Given the description of an element on the screen output the (x, y) to click on. 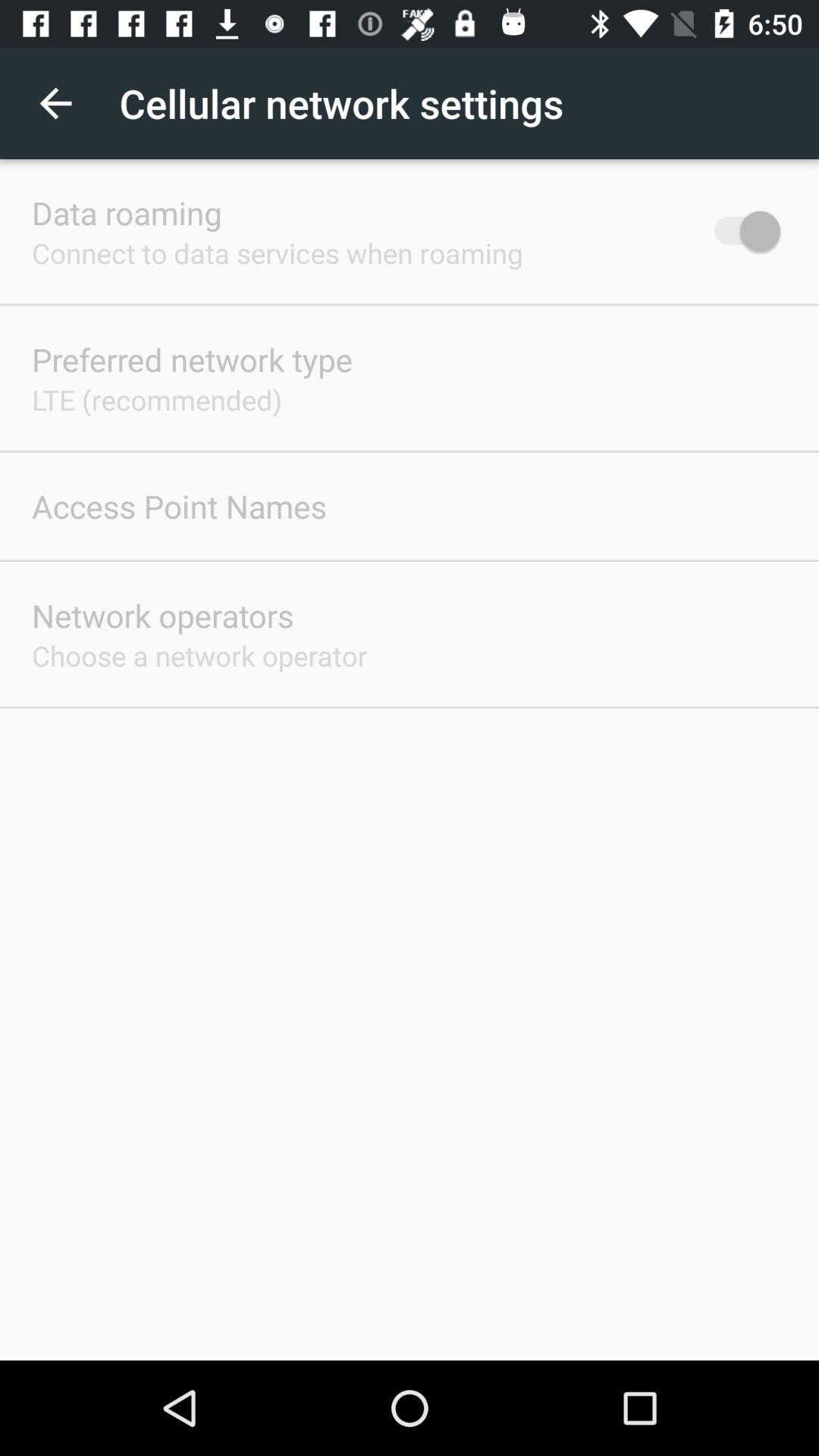
select item below the data roaming item (276, 252)
